Given the description of an element on the screen output the (x, y) to click on. 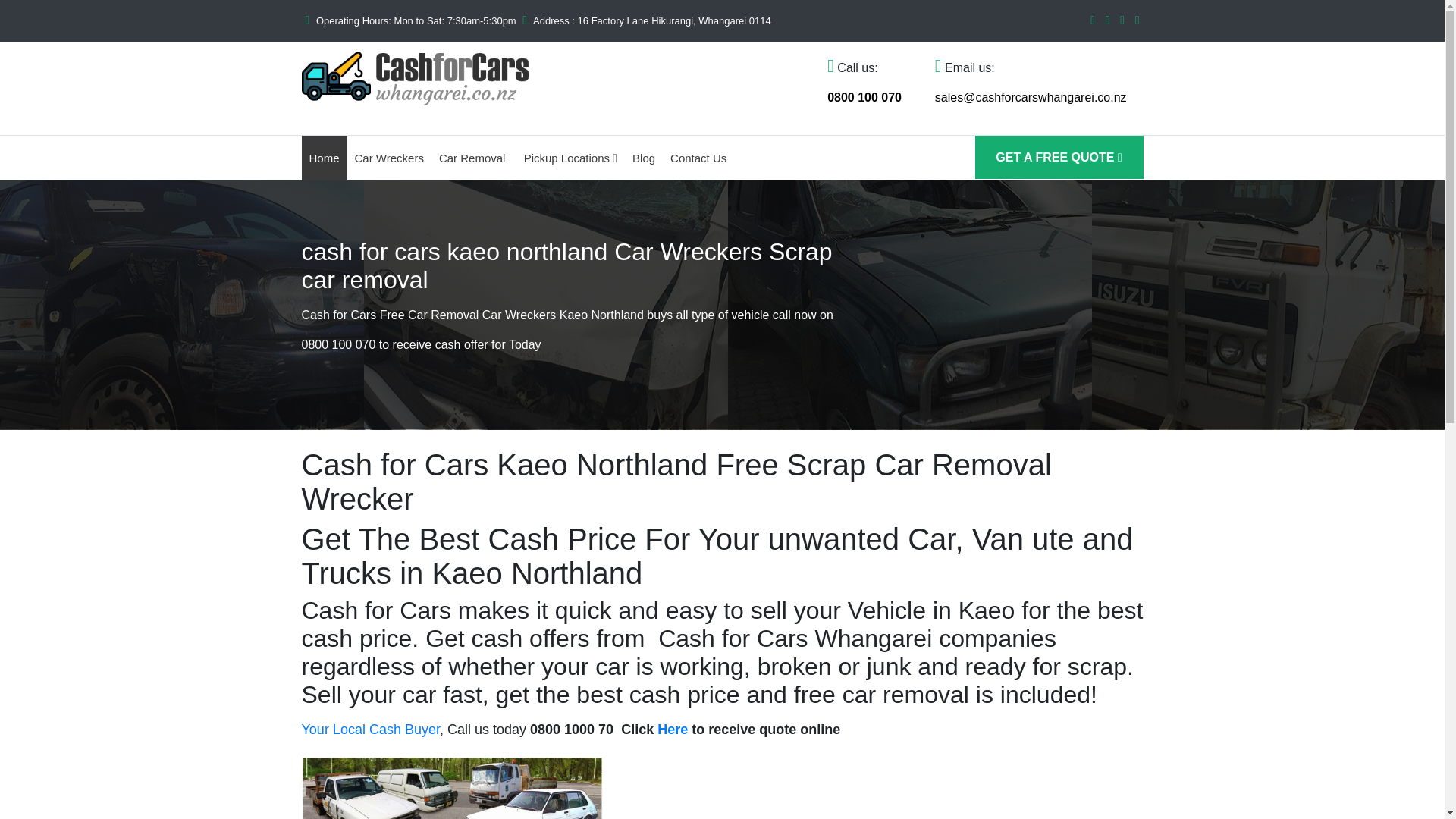
GET A FREE QUOTE (1058, 157)
Pickup Locations (570, 157)
Your Local Cash Buyer (370, 729)
Car Wreckers (388, 157)
Here (672, 729)
0800 100 070 (864, 97)
Car Removal (473, 157)
Contact Us (697, 157)
Home (324, 157)
